Given the description of an element on the screen output the (x, y) to click on. 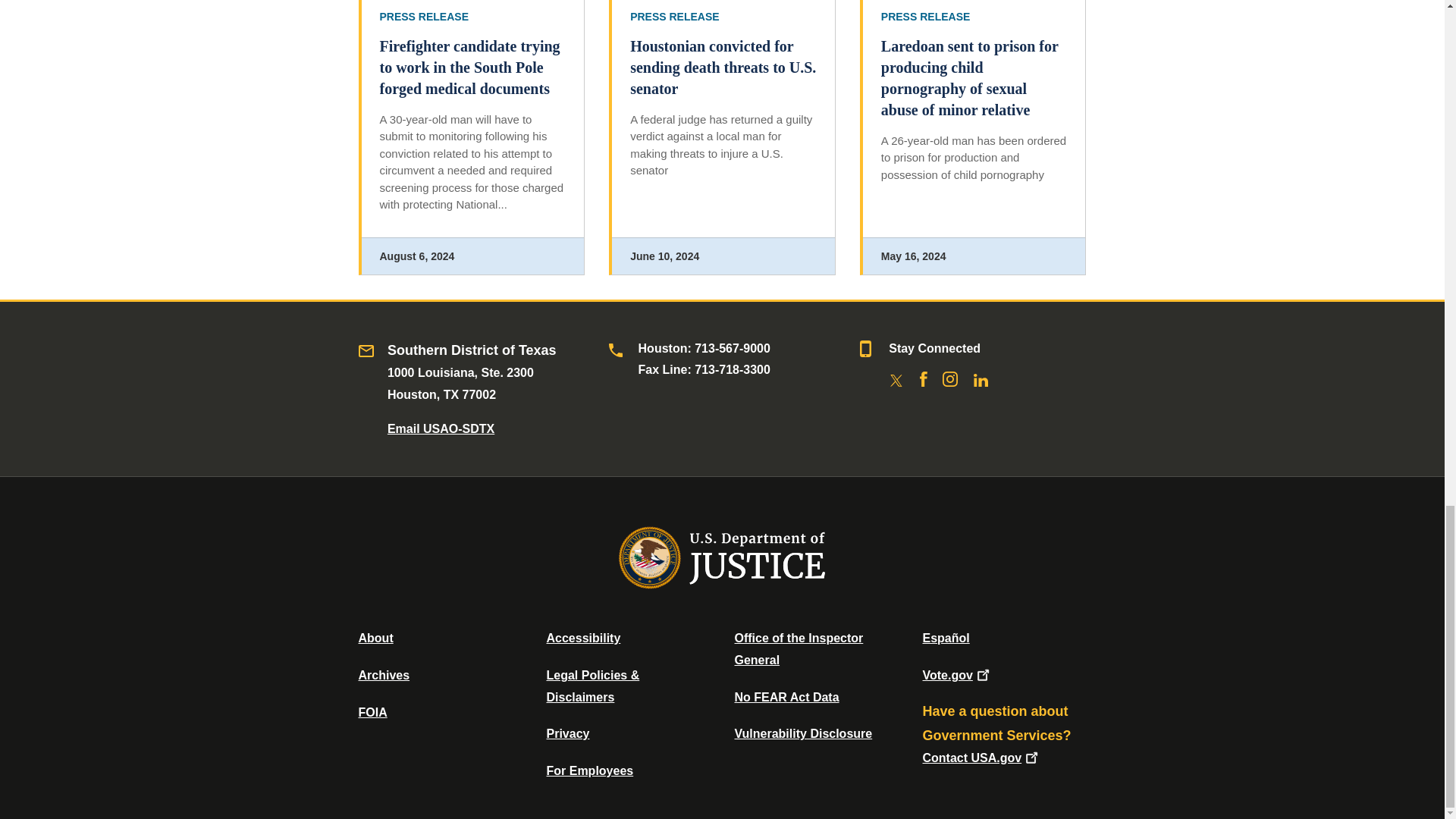
Legal Policies and Disclaimers (592, 686)
For Employees (589, 770)
Department of Justice Archive (383, 675)
About DOJ (375, 637)
Office of Information Policy (372, 712)
Data Posted Pursuant To The No Fear Act (785, 697)
Accessibility Statement (583, 637)
